Given the description of an element on the screen output the (x, y) to click on. 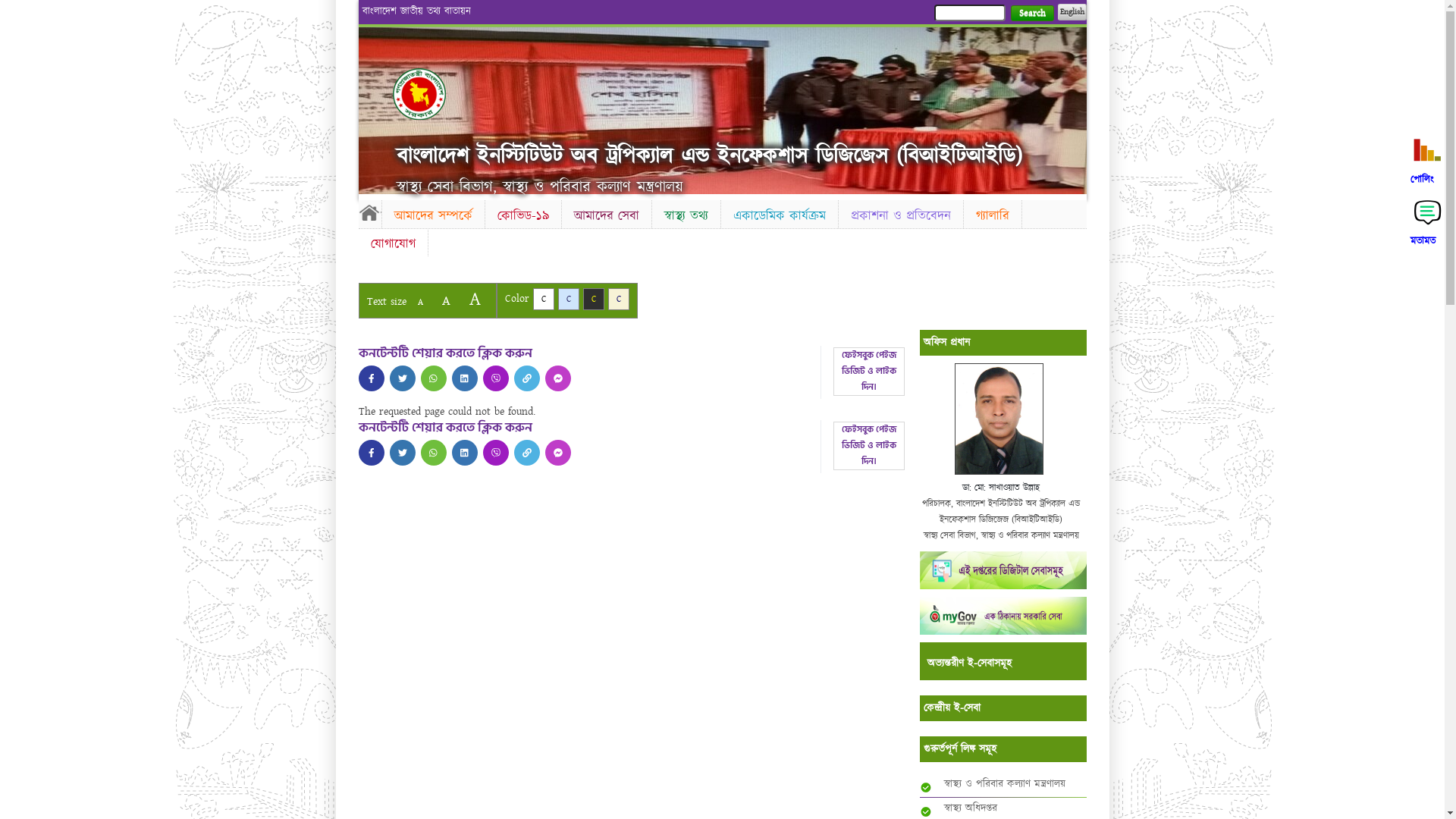
C Element type: text (618, 299)
Home Element type: hover (418, 93)
C Element type: text (592, 299)
C Element type: text (568, 299)
A Element type: text (474, 298)
C Element type: text (542, 299)
A Element type: text (445, 300)
Home Element type: hover (368, 211)
English Element type: text (1071, 11)
Search Element type: text (1031, 13)
A Element type: text (419, 301)
